Given the description of an element on the screen output the (x, y) to click on. 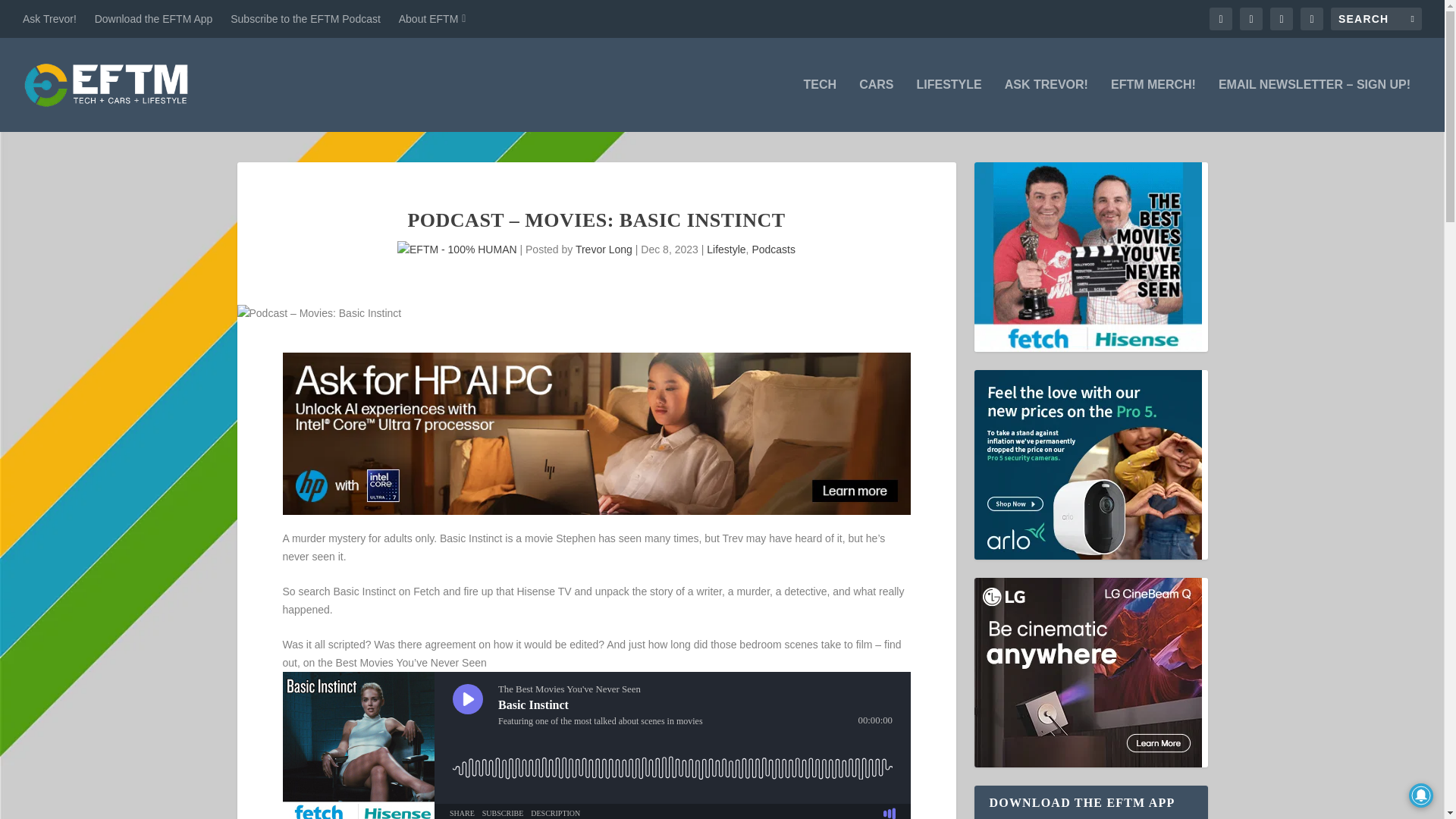
EFTM MERCH! (1152, 104)
Search for: (1376, 18)
Subscribe to the EFTM Podcast (305, 18)
LIFESTYLE (948, 104)
Download the EFTM App (153, 18)
About EFTM (431, 18)
Posts by Trevor Long (603, 249)
Ask Trevor! (50, 18)
ASK TREVOR! (1045, 104)
